Given the description of an element on the screen output the (x, y) to click on. 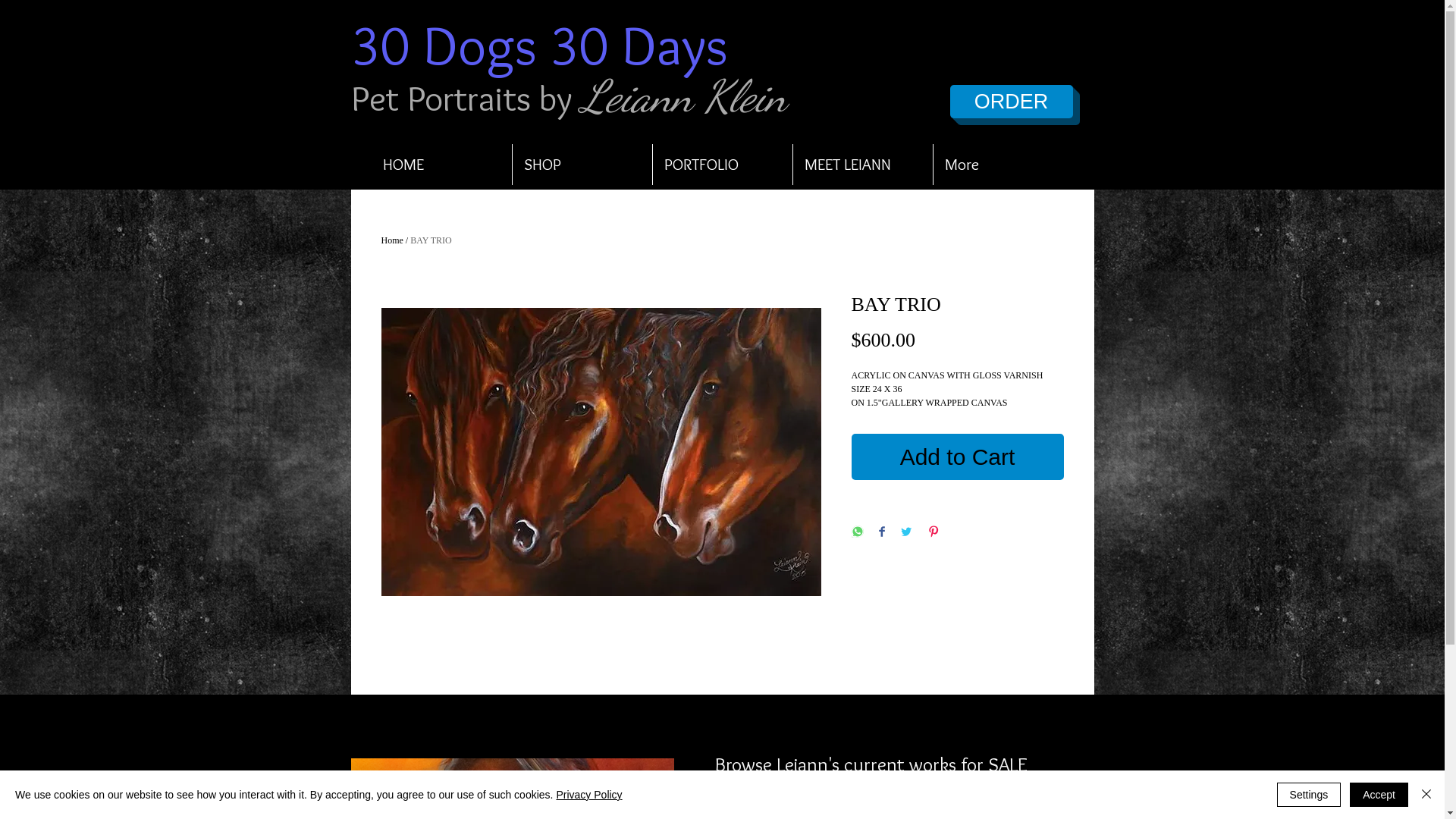
FUNDRAISER/DONATIONS Element type: text (427, 804)
Settings Element type: text (1309, 794)
TRADEMARK,COPYRIGHT Element type: text (424, 771)
BAY TRIO Element type: text (430, 240)
Add to Cart Element type: text (956, 456)
30 Dogs 30 Days Element type: text (397, 732)
ORDER Element type: text (1010, 101)
Accept Element type: text (1378, 794)
Privacy Policy Element type: text (588, 794)
SHOP Element type: text (582, 164)
Home Element type: text (391, 240)
MEET LEIANN Element type: text (862, 164)
PORTFOLIO Element type: text (721, 164)
HOME Element type: text (441, 164)
